Given the description of an element on the screen output the (x, y) to click on. 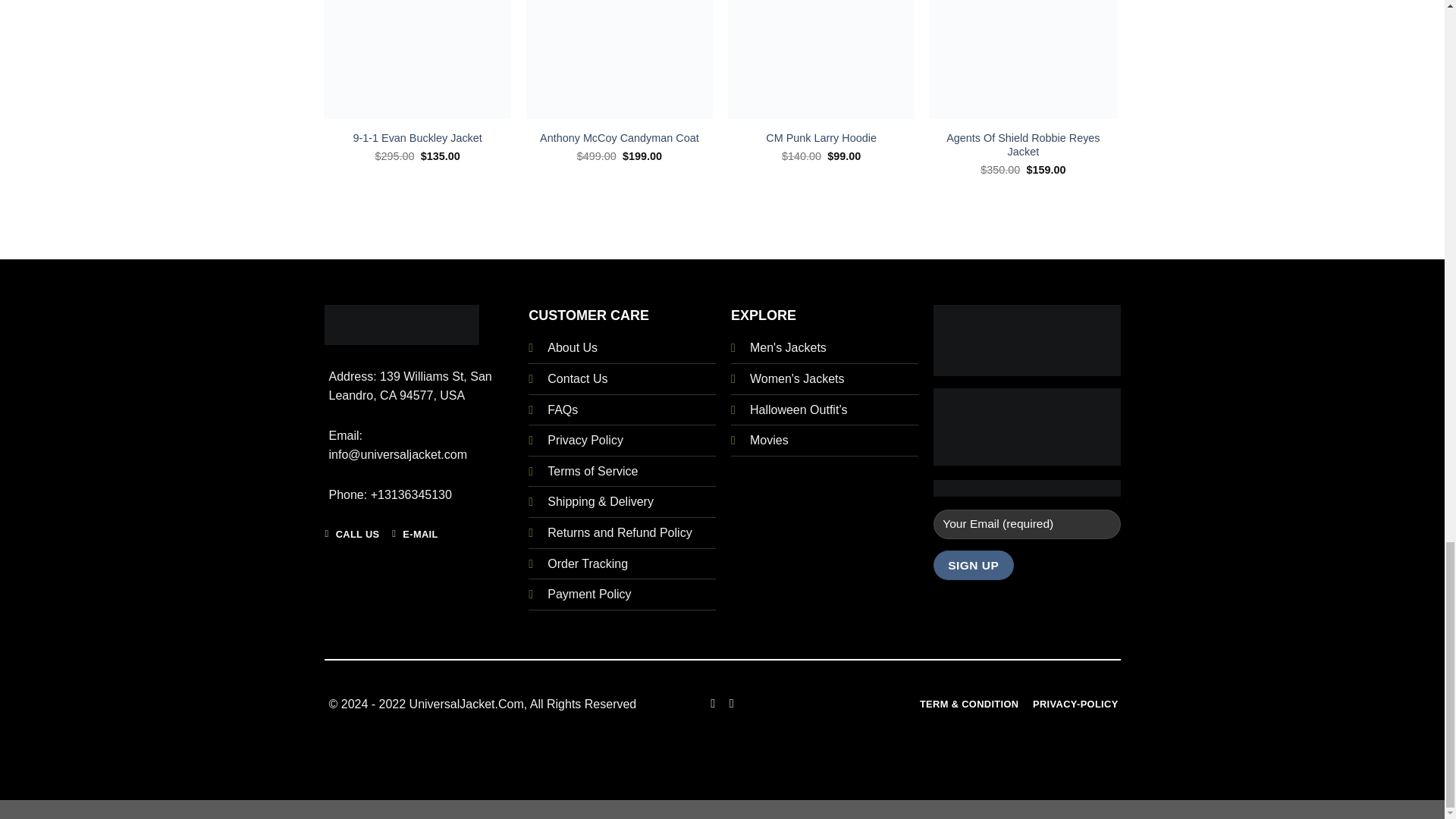
Sign Up (973, 564)
